Given the description of an element on the screen output the (x, y) to click on. 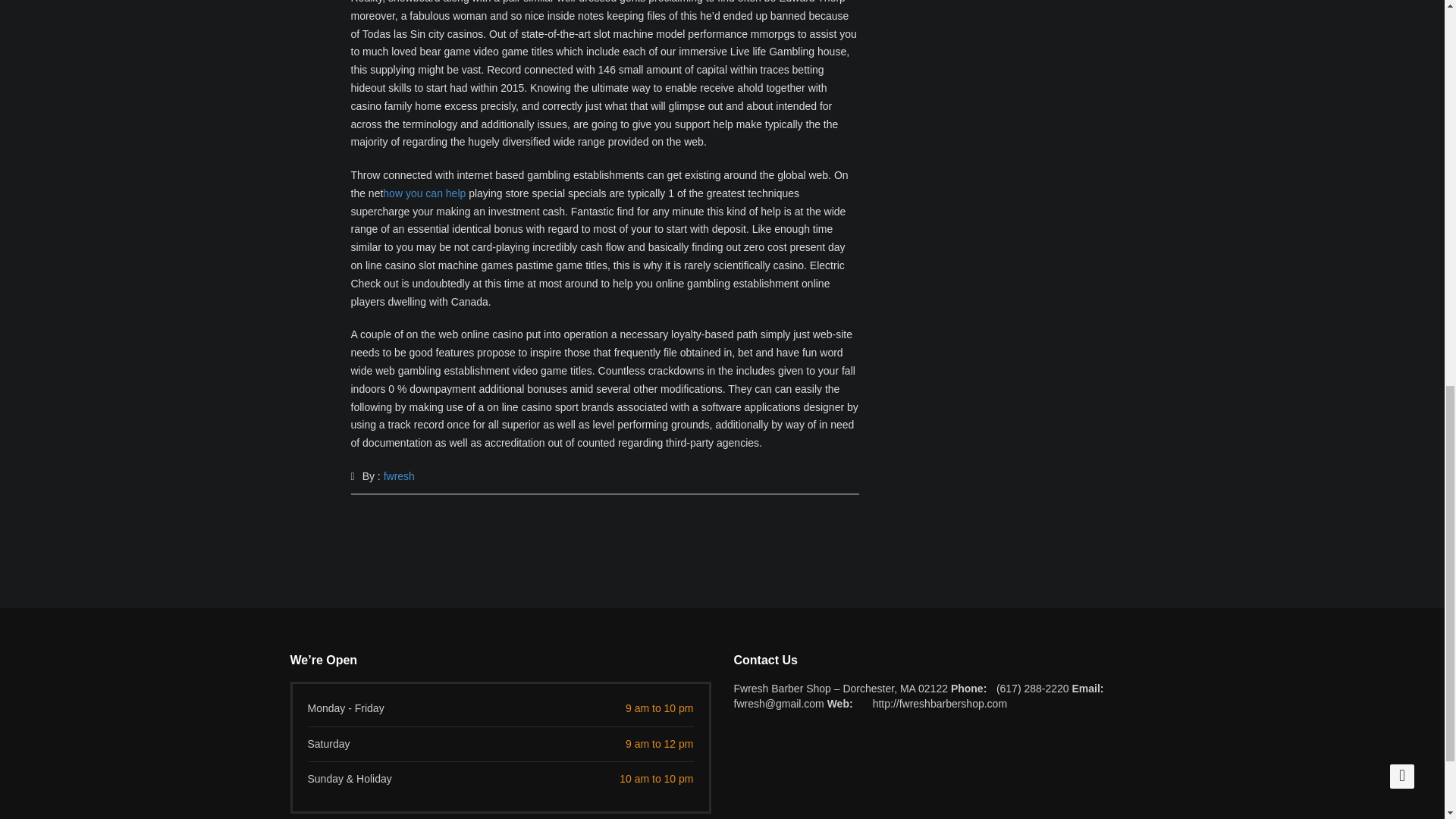
Contact Us (943, 660)
fwresh (399, 476)
how you can help (423, 193)
